Given the description of an element on the screen output the (x, y) to click on. 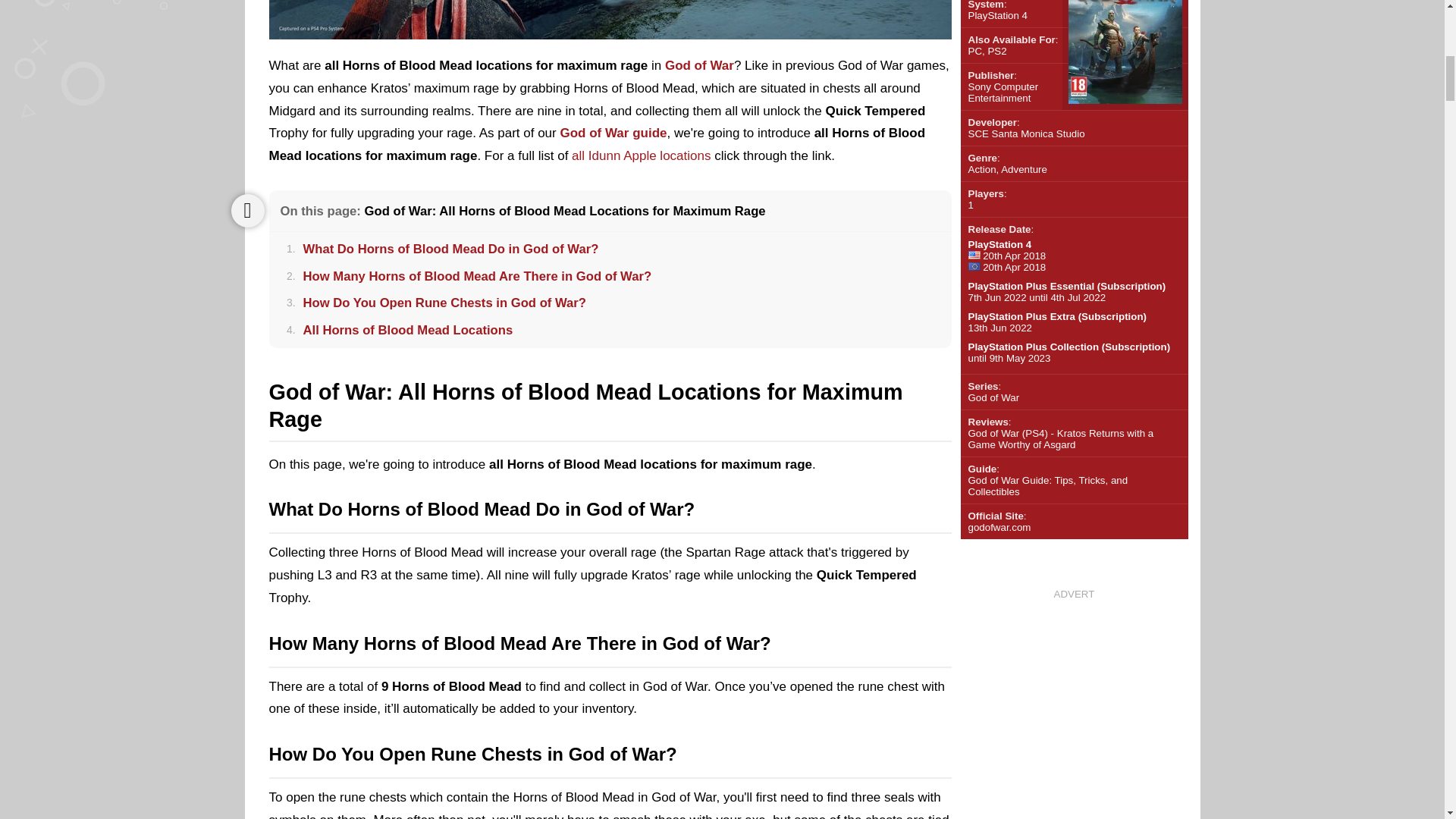
On This Page (246, 210)
